Given the description of an element on the screen output the (x, y) to click on. 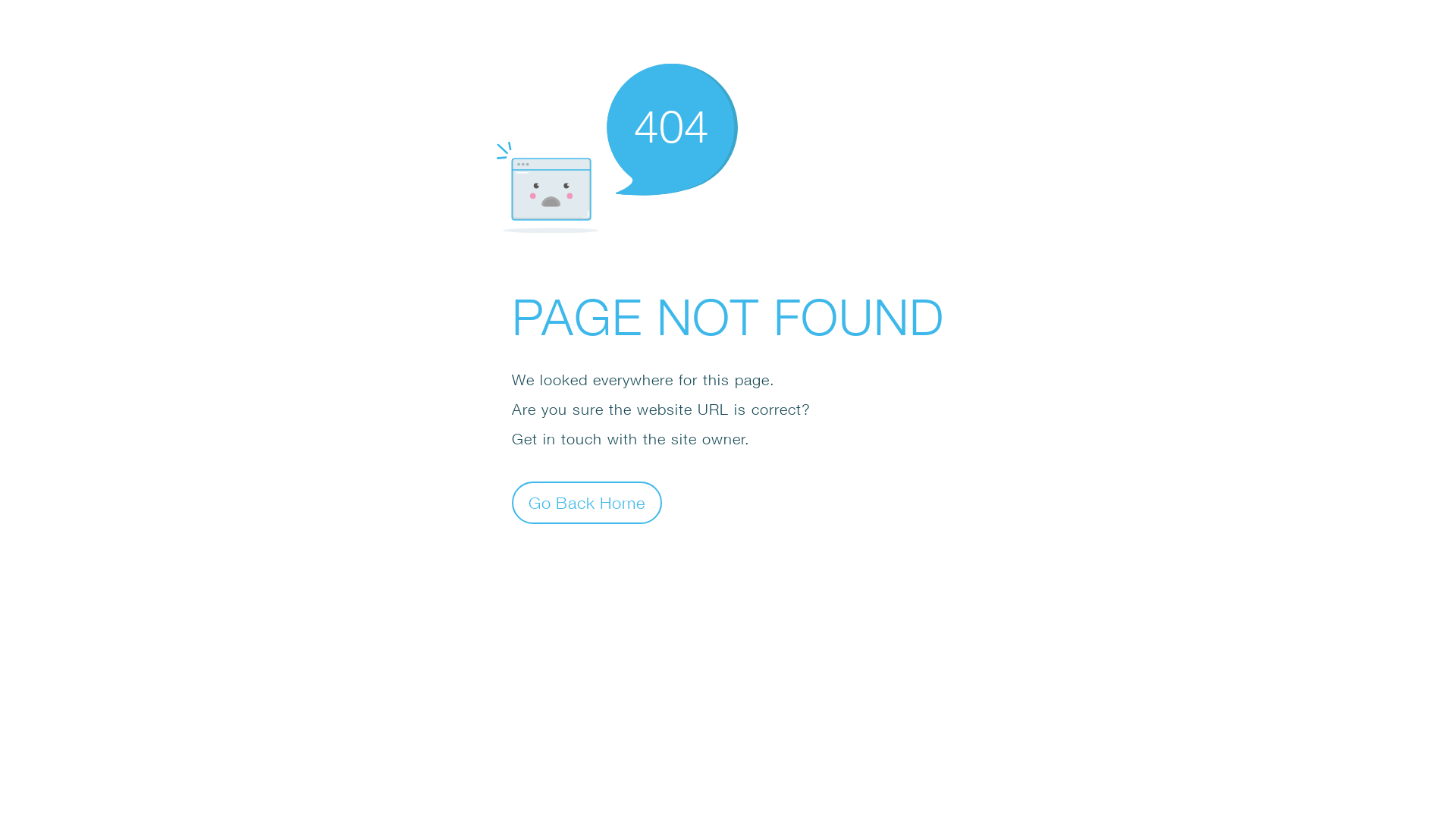
Go Back Home Element type: text (586, 502)
